Given the description of an element on the screen output the (x, y) to click on. 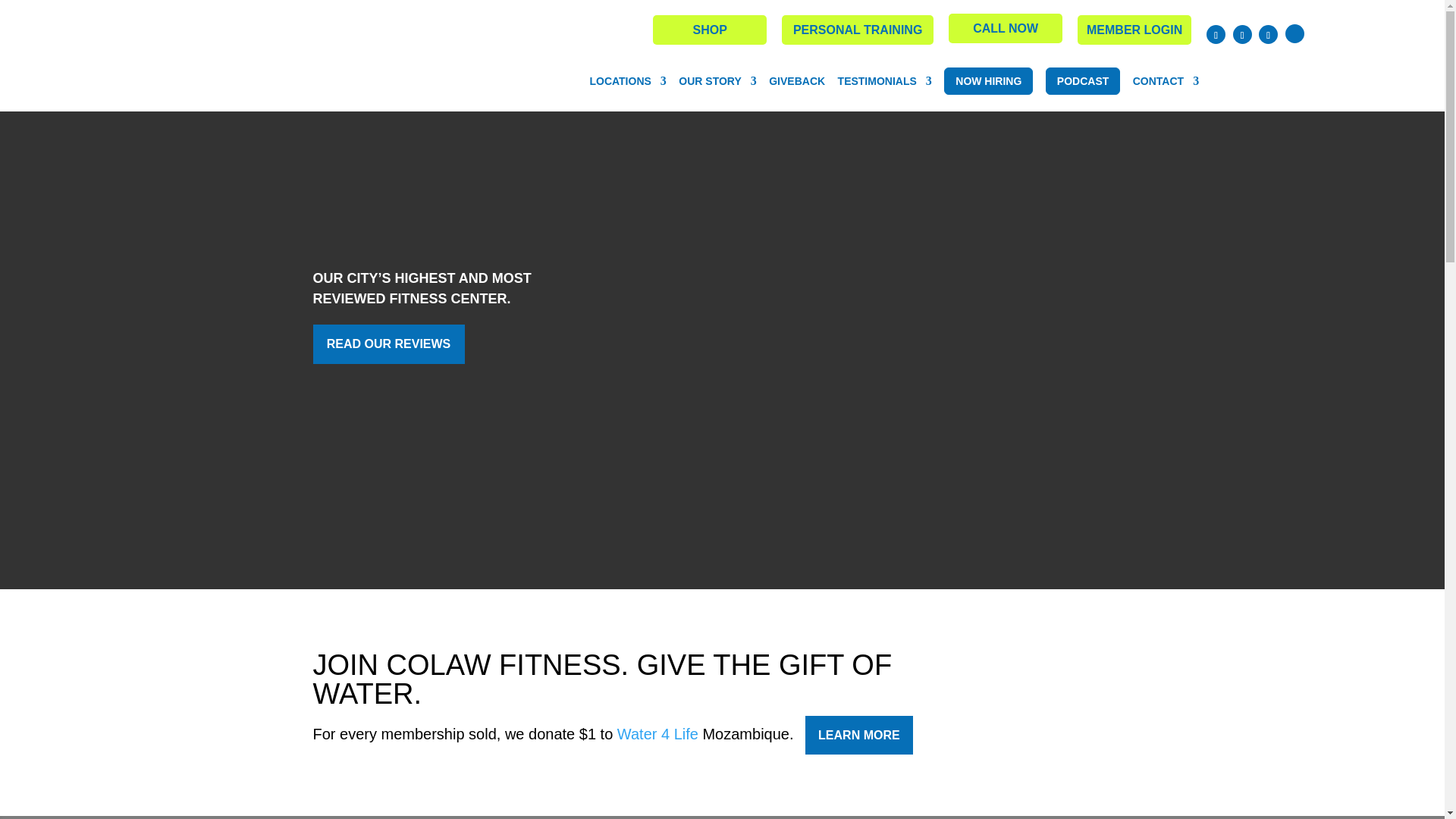
PERSONAL TRAINING (857, 30)
NOW HIRING (987, 81)
GIVEBACK (796, 81)
TESTIMONIALS (884, 81)
CONTACT (1165, 81)
CALL NOW (1005, 28)
PODCAST (1082, 81)
READ OUR REVIEWS (388, 343)
OUR STORY (716, 81)
Water 4 Life (657, 733)
